Given the description of an element on the screen output the (x, y) to click on. 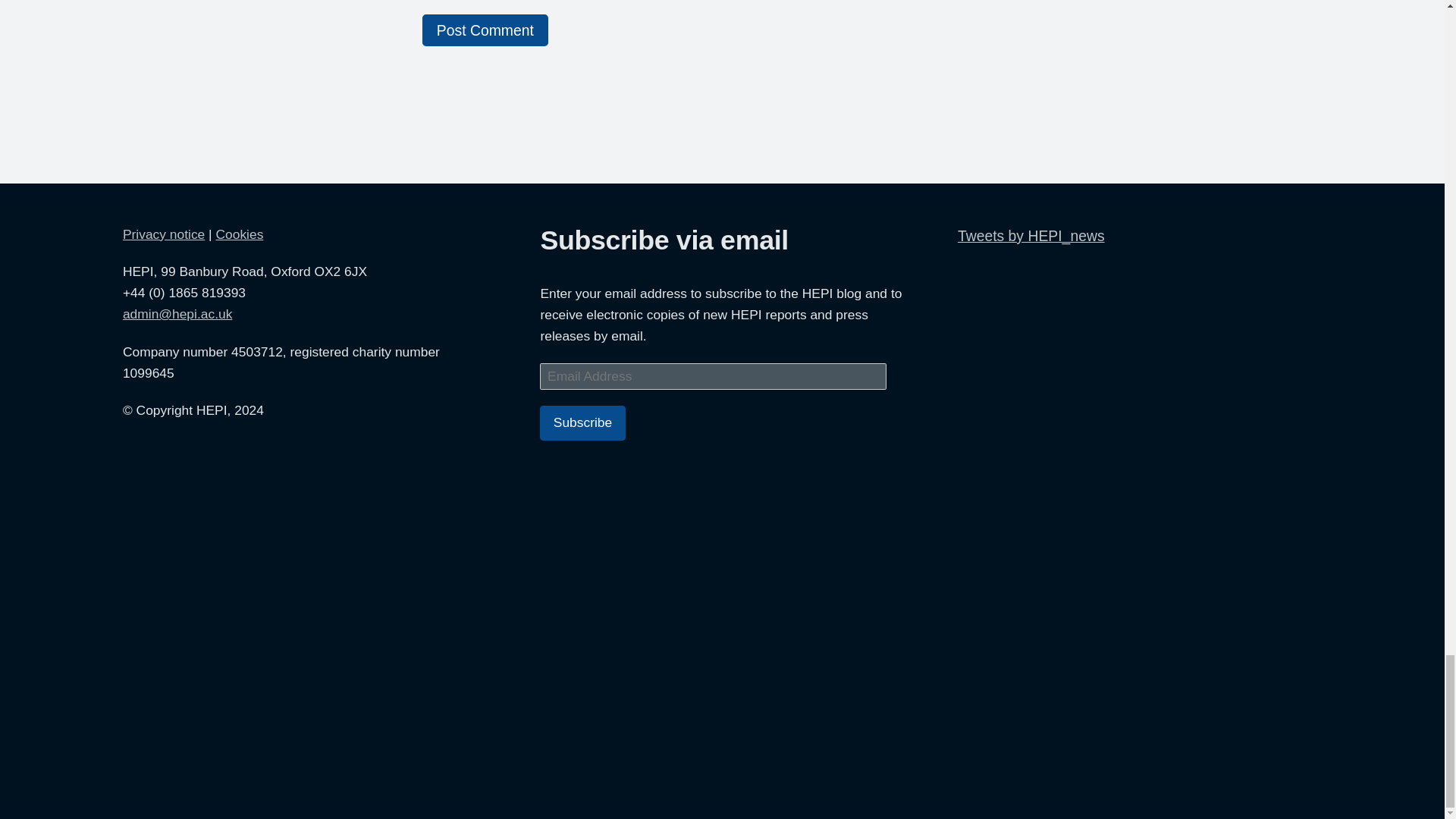
Subscribe (582, 422)
Cookies (239, 233)
Post Comment (485, 29)
Post Comment (485, 29)
Privacy notice (163, 233)
Email us (176, 313)
